Given the description of an element on the screen output the (x, y) to click on. 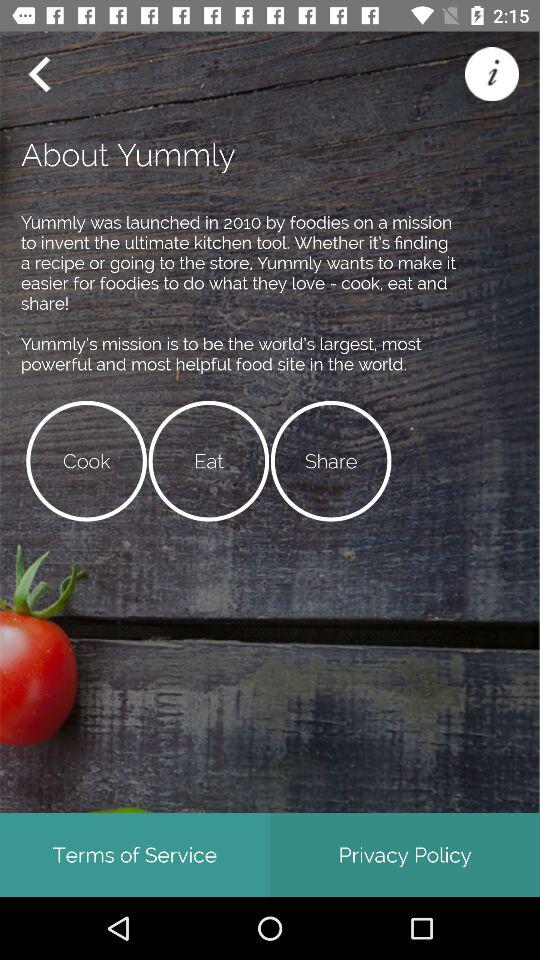
go to help (492, 74)
